Given the description of an element on the screen output the (x, y) to click on. 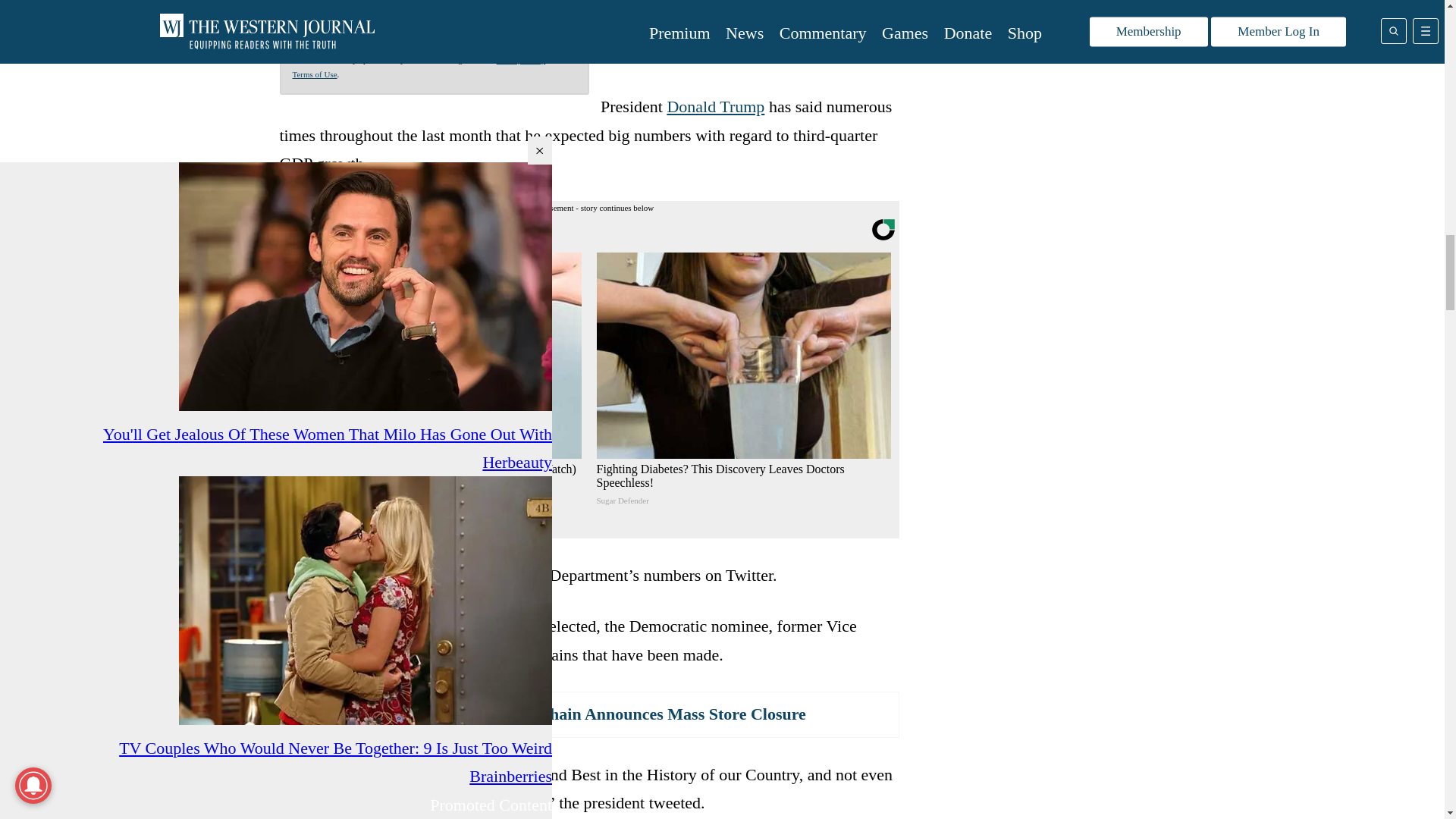
Submit (459, 21)
